Given the description of an element on the screen output the (x, y) to click on. 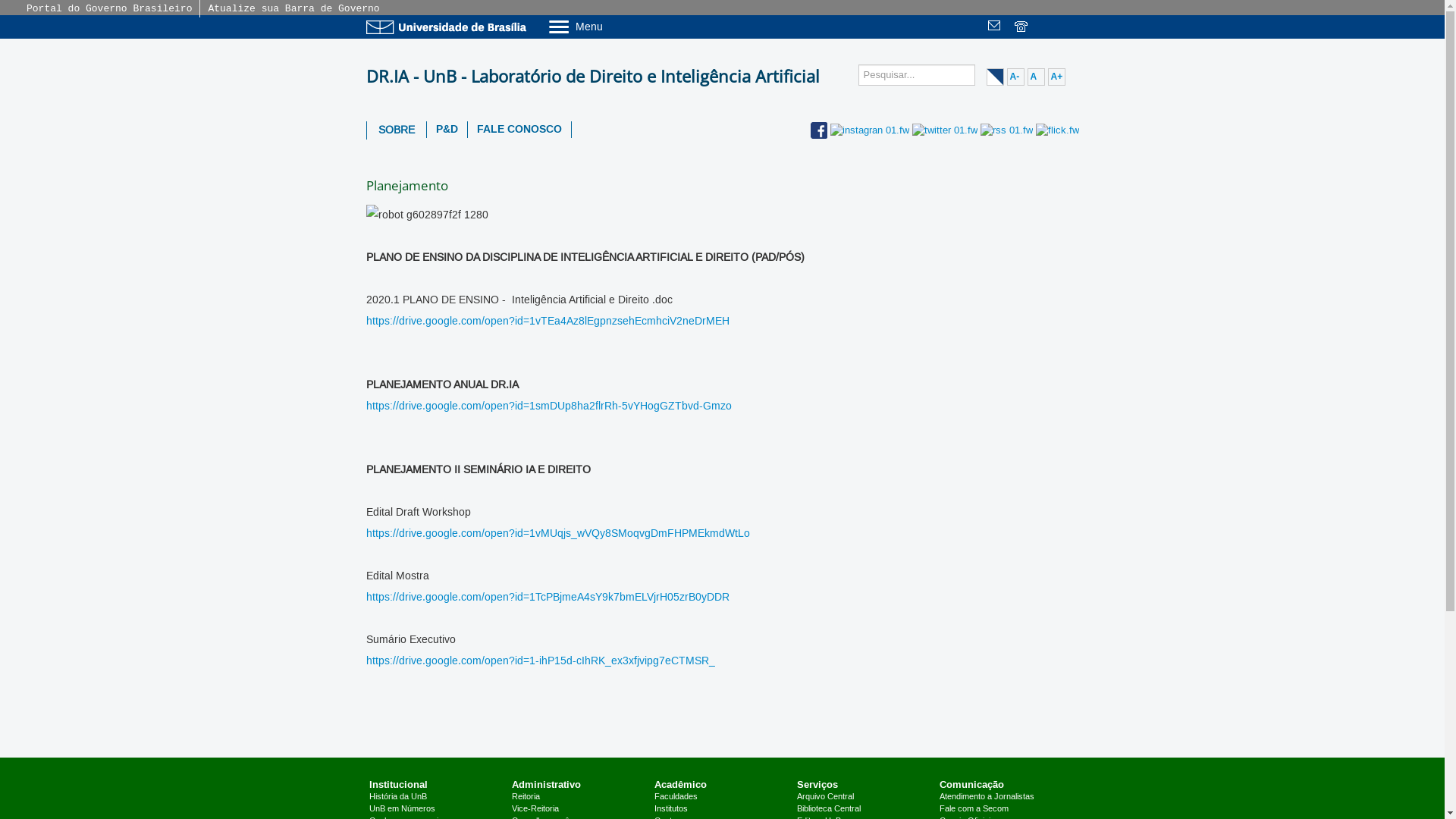
A- Element type: text (1015, 76)
Institutos Element type: text (670, 808)
Vice-Reitoria Element type: text (534, 808)
Biblioteca Central Element type: text (828, 808)
  Element type: text (1022, 27)
Portal do Governo Brasileiro Element type: text (108, 8)
Menu Element type: text (613, 25)
  Element type: text (996, 27)
Arquivo Central Element type: text (825, 796)
Fale com a Secom Element type: text (973, 808)
Reitoria Element type: text (525, 796)
Telefones da UnB Element type: hover (1022, 27)
P&D Element type: text (446, 129)
Fala.BR Element type: hover (1047, 27)
Atualize sua Barra de Governo Element type: text (293, 8)
FALE CONOSCO Element type: text (518, 129)
Ir para o Portal da UnB Element type: hover (448, 26)
  Element type: text (1073, 27)
Atendimento a Jornalistas Element type: text (986, 796)
A+ Element type: text (1056, 76)
  Element type: text (1047, 27)
Webmail Element type: hover (996, 27)
Faculdades Element type: text (675, 796)
A Element type: text (1035, 76)
Sistemas Element type: hover (1073, 27)
